Given the description of an element on the screen output the (x, y) to click on. 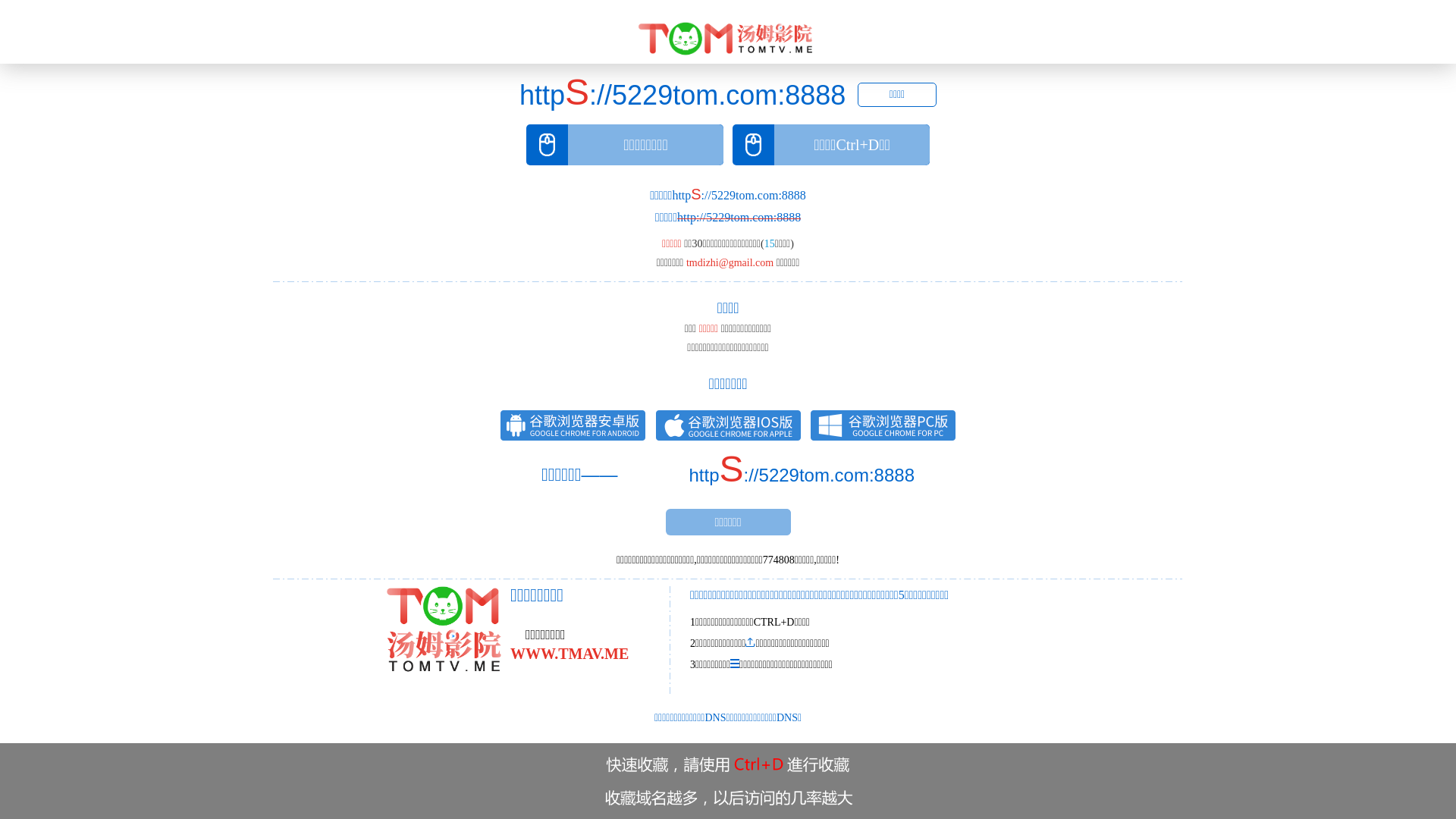
tmdizhi@gmail.com Element type: text (729, 262)
